Given the description of an element on the screen output the (x, y) to click on. 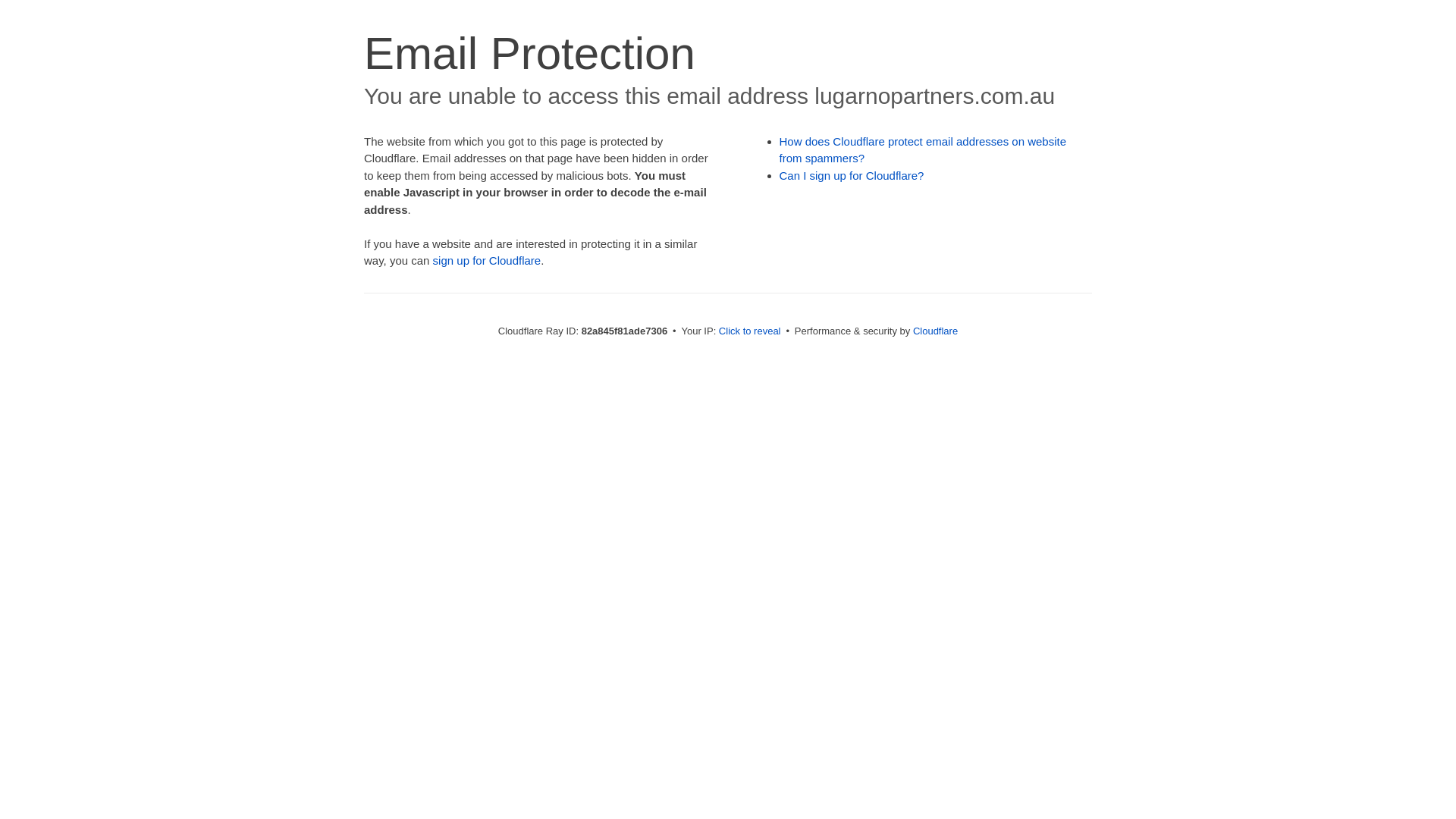
sign up for Cloudflare Element type: text (487, 260)
Click to reveal Element type: text (749, 330)
Can I sign up for Cloudflare? Element type: text (851, 175)
Cloudflare Element type: text (935, 330)
